Given the description of an element on the screen output the (x, y) to click on. 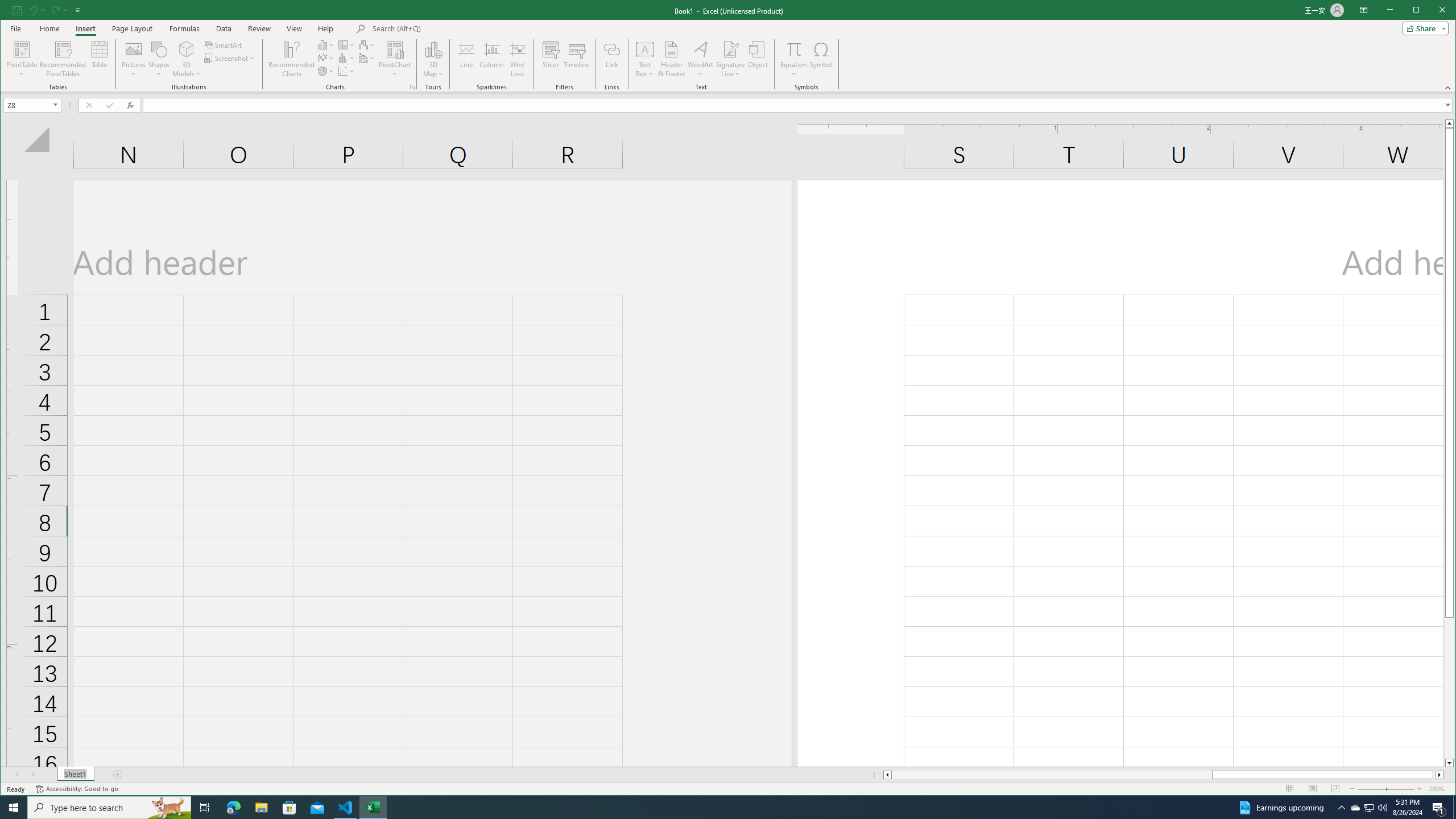
Running applications (717, 807)
Object... (757, 59)
PivotChart (394, 59)
Insert Statistic Chart (346, 57)
Insert Scatter (X, Y) or Bubble Chart (346, 70)
Line (466, 59)
